Given the description of an element on the screen output the (x, y) to click on. 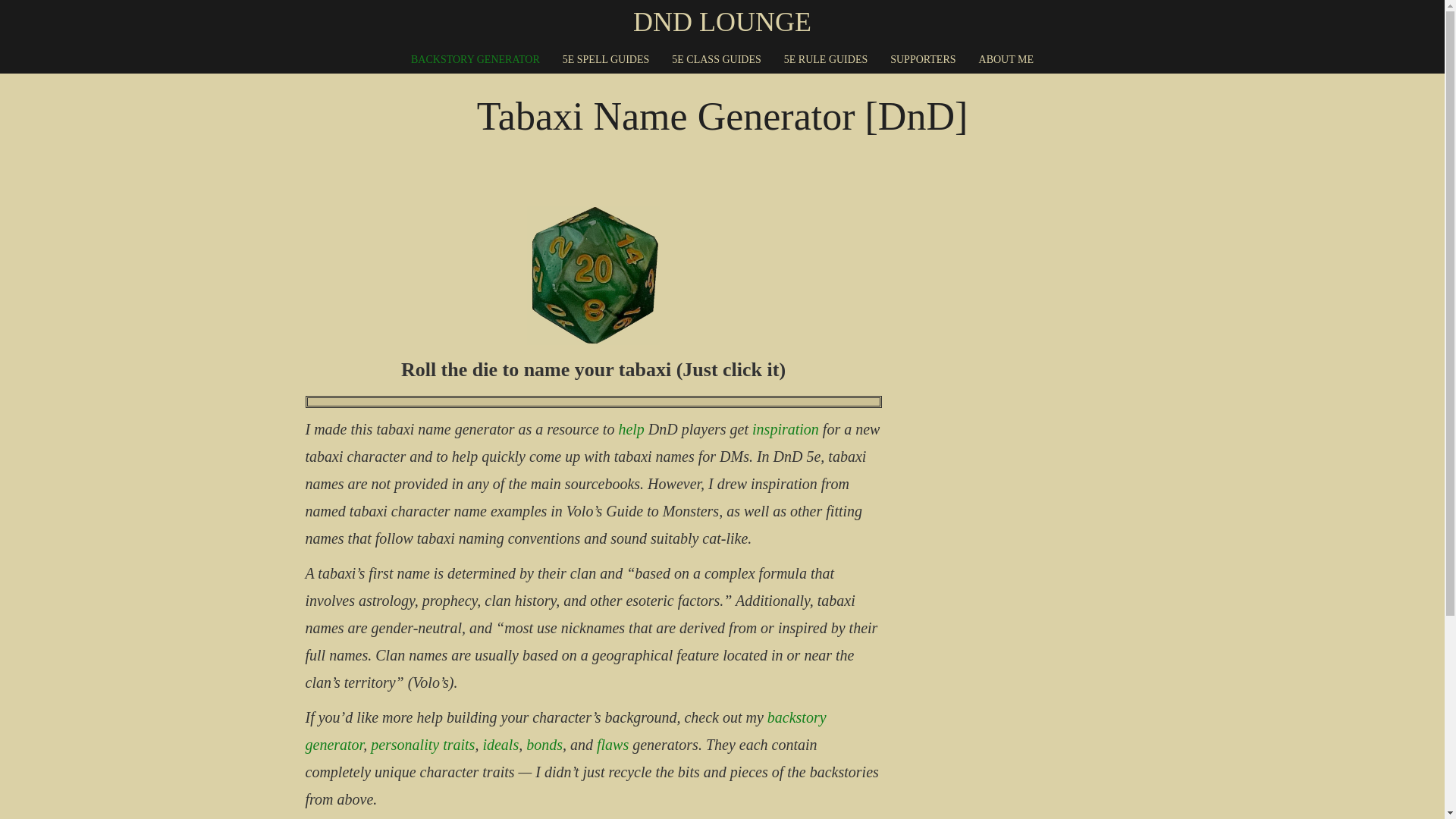
inspiration (785, 428)
BACKSTORY GENERATOR (475, 58)
DND LOUNGE (721, 22)
backstory generator (564, 730)
5E CLASS GUIDES (716, 58)
help (630, 428)
5E SPELL GUIDES (606, 58)
SUPPORTERS (923, 58)
ABOUT ME (1005, 58)
5E RULE GUIDES (825, 58)
